Given the description of an element on the screen output the (x, y) to click on. 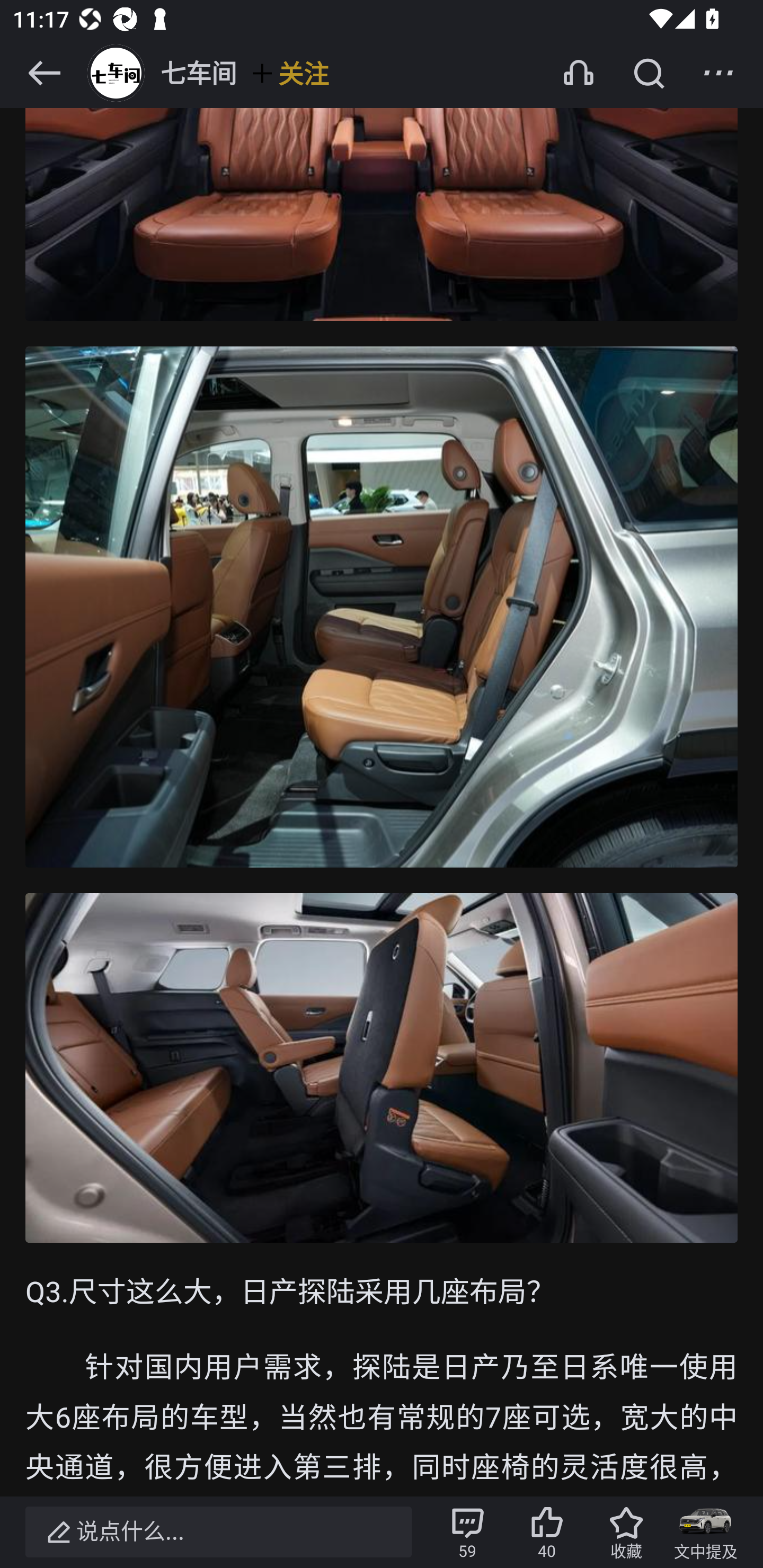
uUqfyQghHd9-Mq-SBCS8YarrTmI (381, 161)
七车间 (159, 72)
 (44, 72)
 (648, 72)
 (718, 72)
 关注 (288, 73)
1JbvbYdDkFH_ztkP4gHtRaaNYs8 (381, 607)
5F3YY7CjBmThjxMNM3iLmKldHwQ (381, 1068)
 59 (467, 1531)
40 (546, 1531)
收藏 (625, 1531)
文中提及 (705, 1531)
 说点什么... (218, 1531)
